Given the description of an element on the screen output the (x, y) to click on. 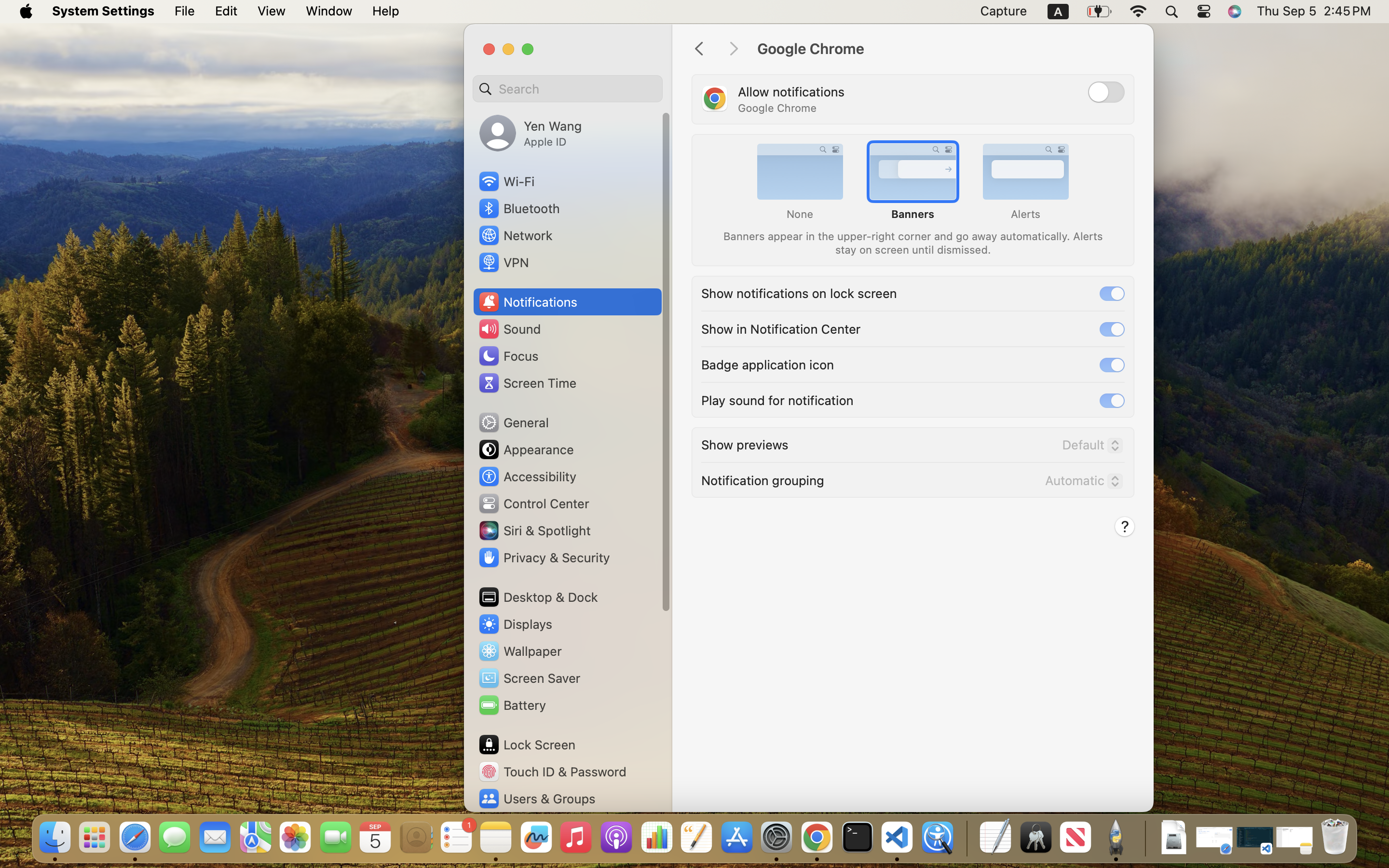
Bluetooth Element type: AXStaticText (518, 207)
Show in Notification Center Element type: AXStaticText (780, 327)
Allow notifications Element type: AXStaticText (790, 91)
Show previews Element type: AXStaticText (744, 443)
Siri & Spotlight Element type: AXStaticText (533, 530)
